Given the description of an element on the screen output the (x, y) to click on. 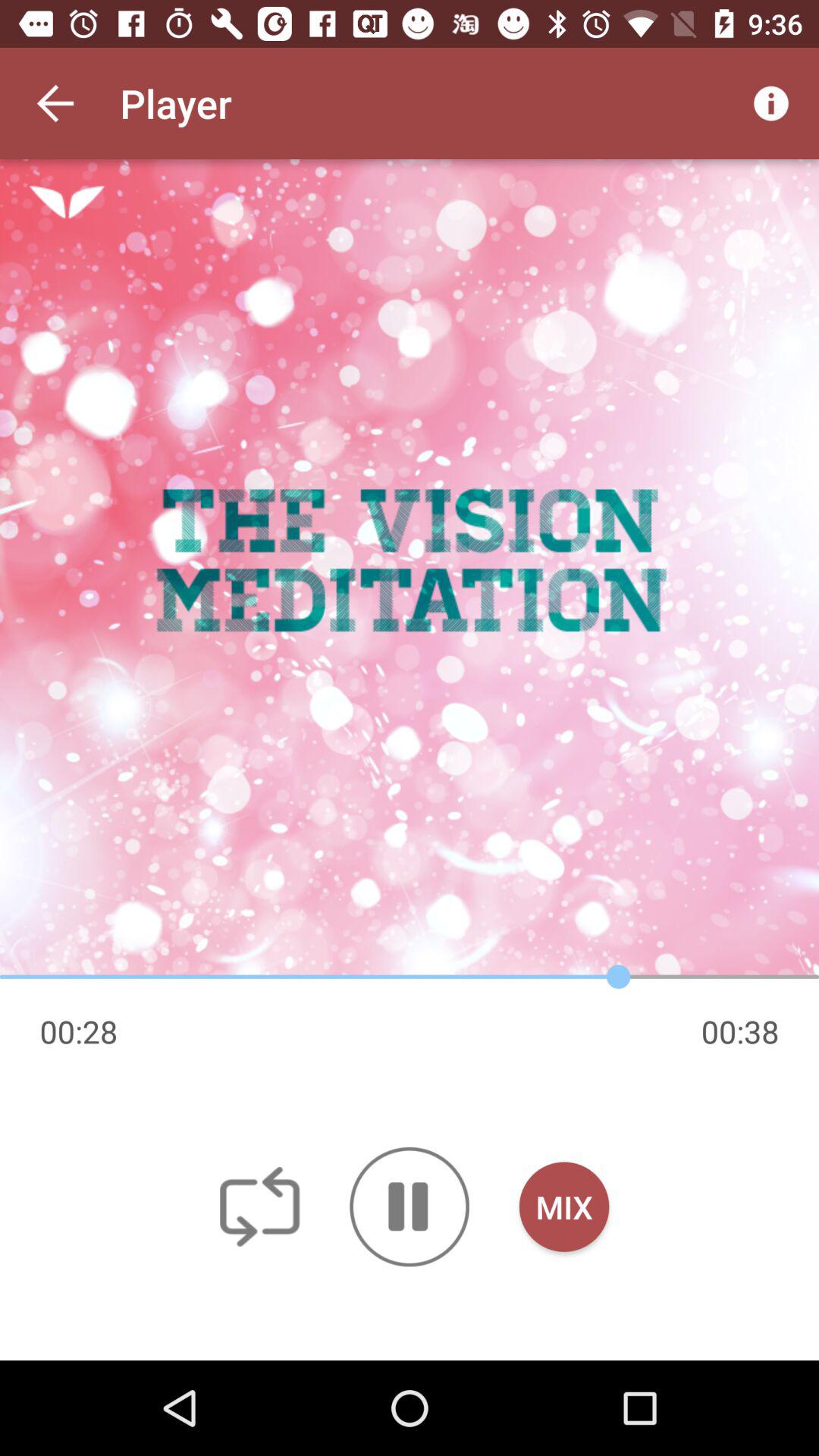
launch off icon (259, 1206)
